Given the description of an element on the screen output the (x, y) to click on. 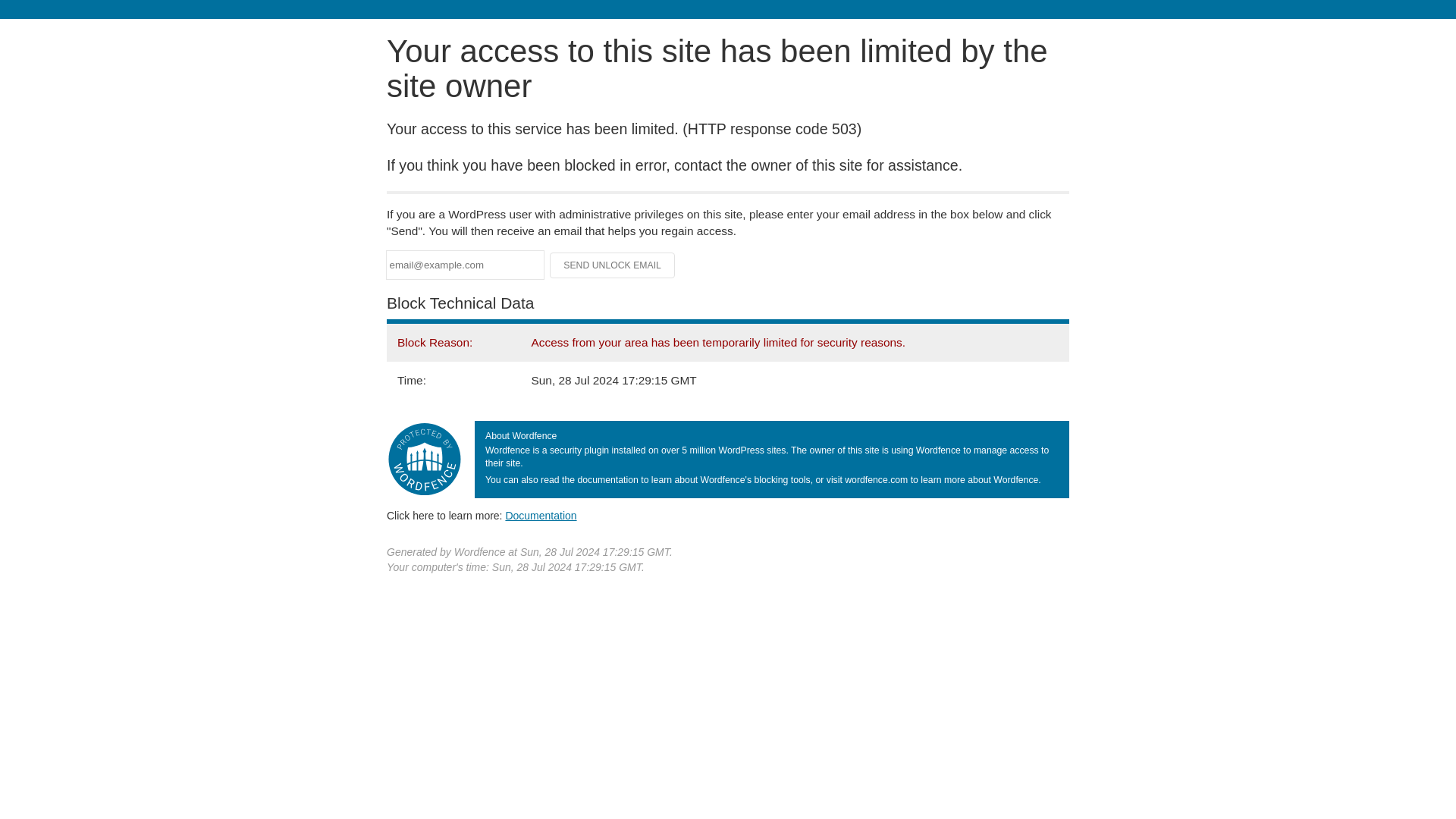
Send Unlock Email (612, 265)
Send Unlock Email (612, 265)
Documentation (540, 515)
